Given the description of an element on the screen output the (x, y) to click on. 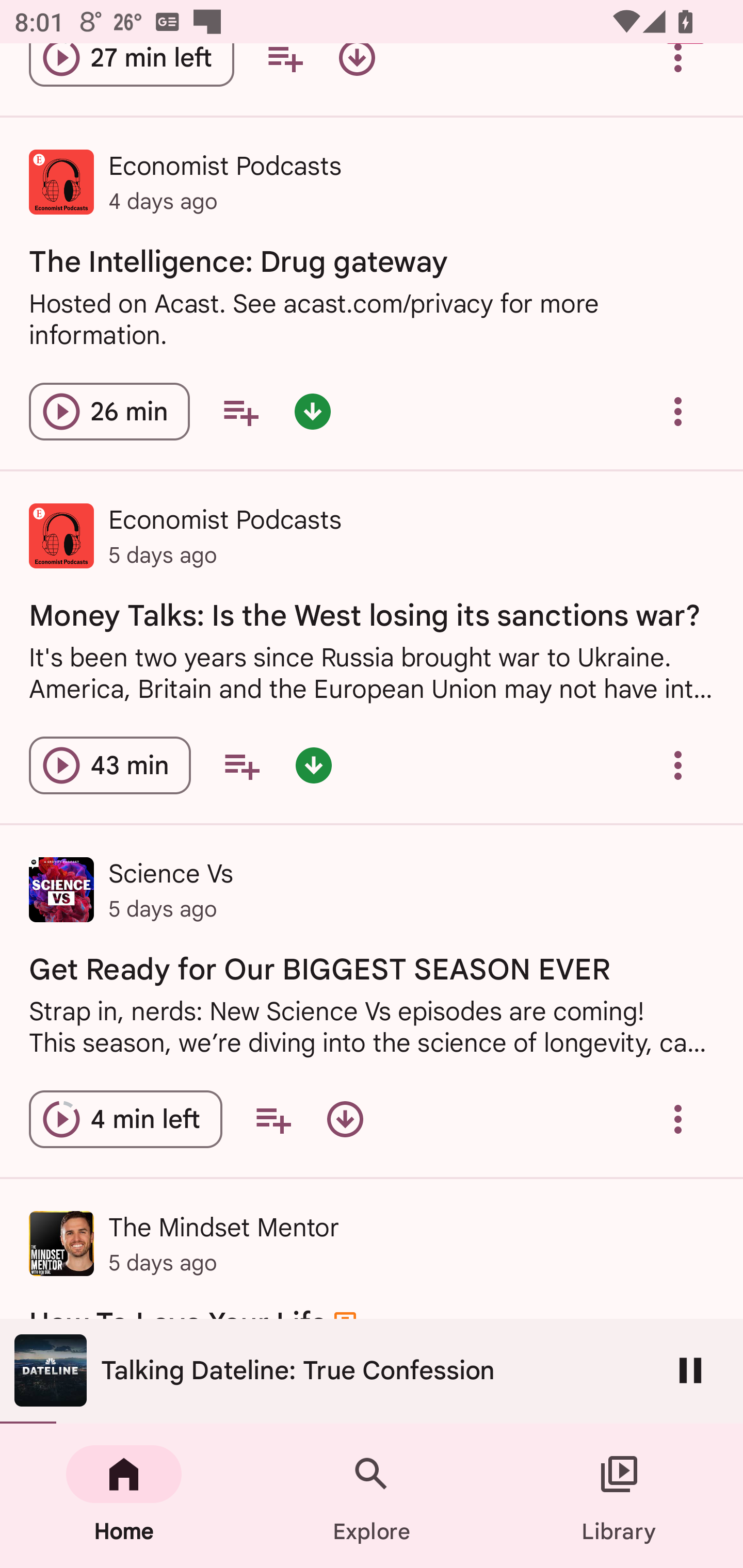
Add to your queue (284, 71)
Download episode (356, 71)
Overflow menu (677, 71)
Play episode The Intelligence: Drug gateway 26 min (109, 411)
Add to your queue (240, 411)
Episode downloaded - double tap for options (312, 411)
Overflow menu (677, 411)
Add to your queue (241, 765)
Episode downloaded - double tap for options (313, 765)
Overflow menu (677, 765)
Add to your queue (273, 1118)
Download episode (345, 1118)
Overflow menu (677, 1118)
Pause (690, 1370)
Explore (371, 1495)
Library (619, 1495)
